Given the description of an element on the screen output the (x, y) to click on. 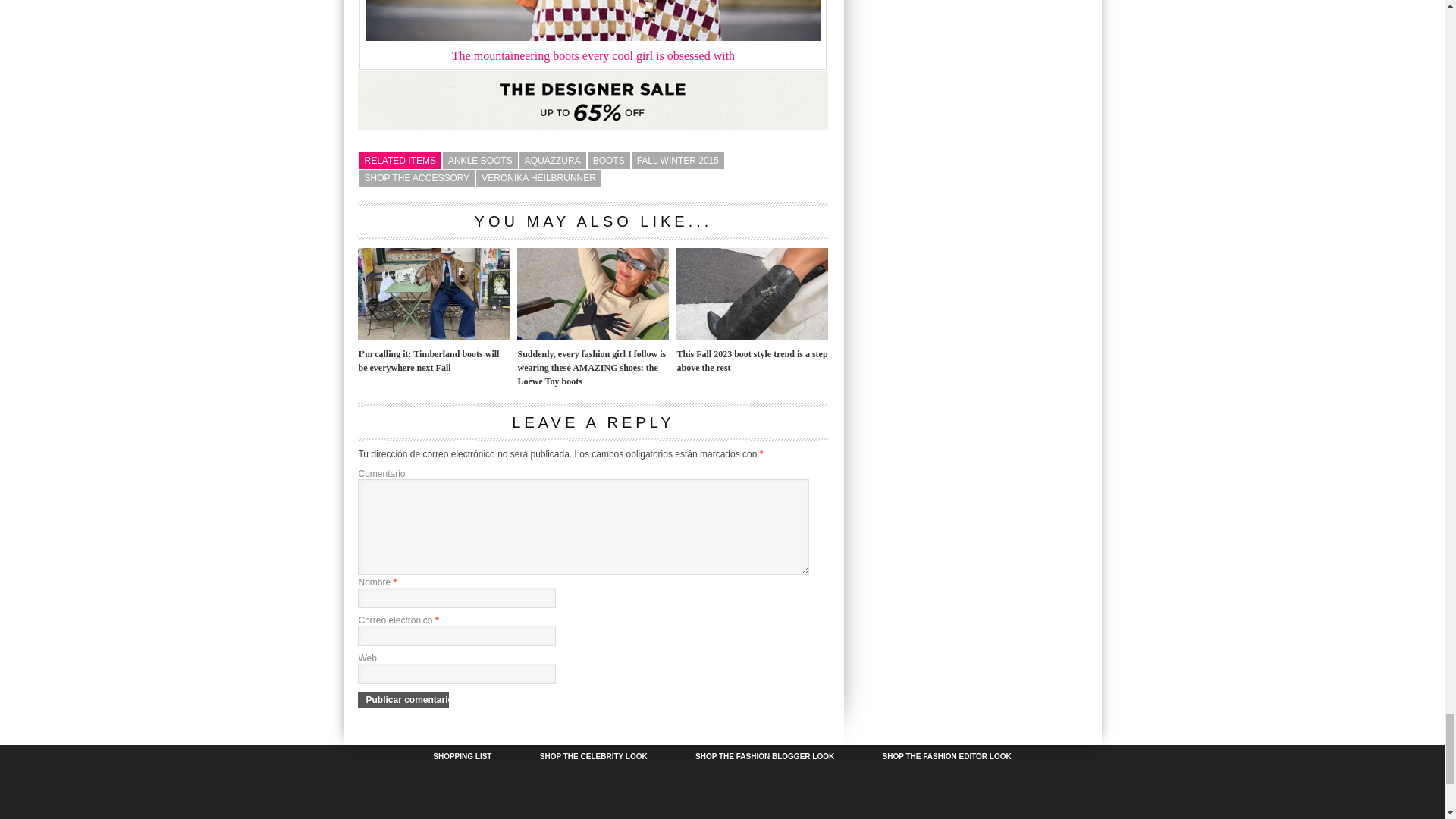
Publicar comentario (403, 699)
